Given the description of an element on the screen output the (x, y) to click on. 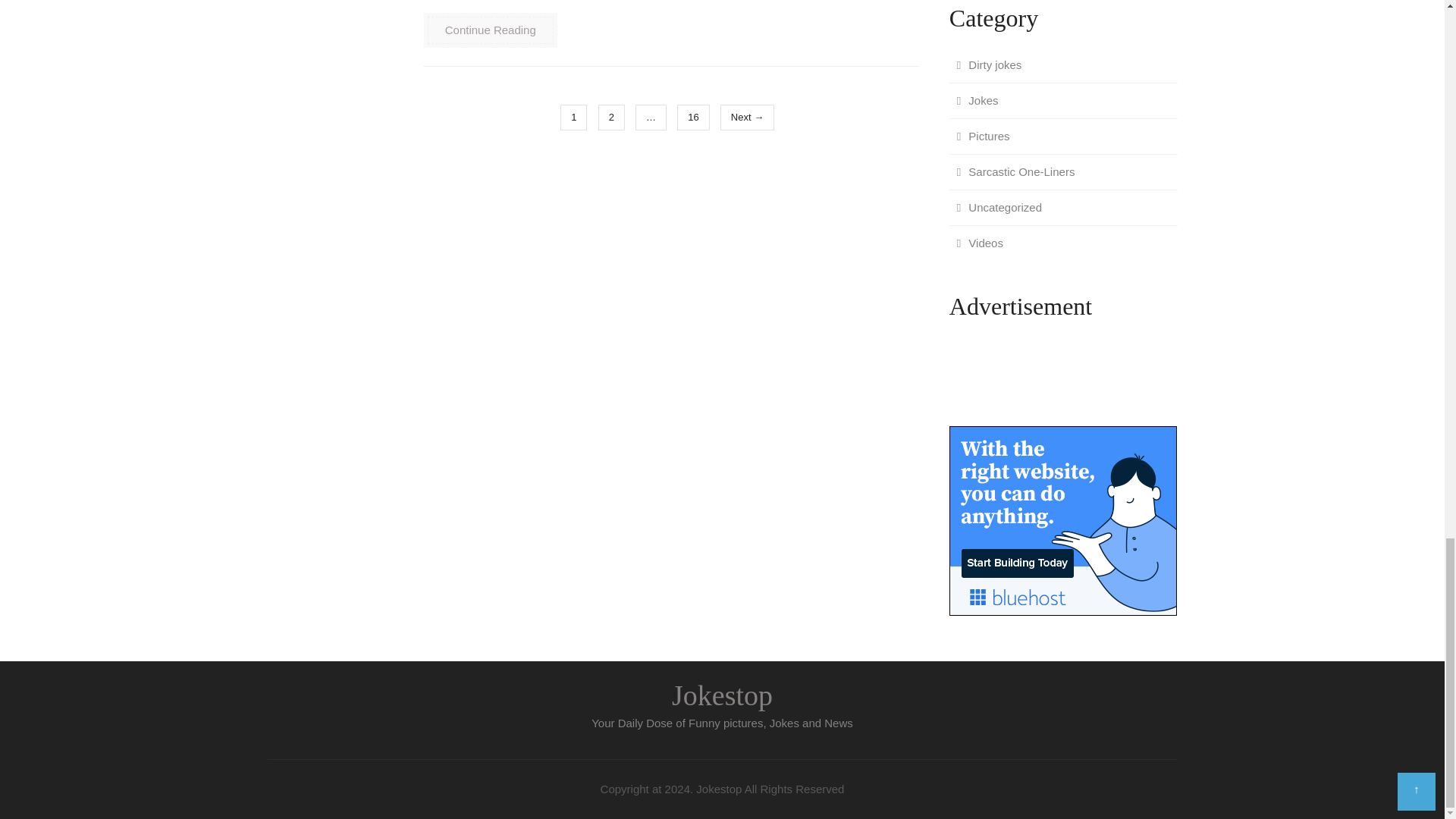
Jokestop (722, 695)
